Given the description of an element on the screen output the (x, y) to click on. 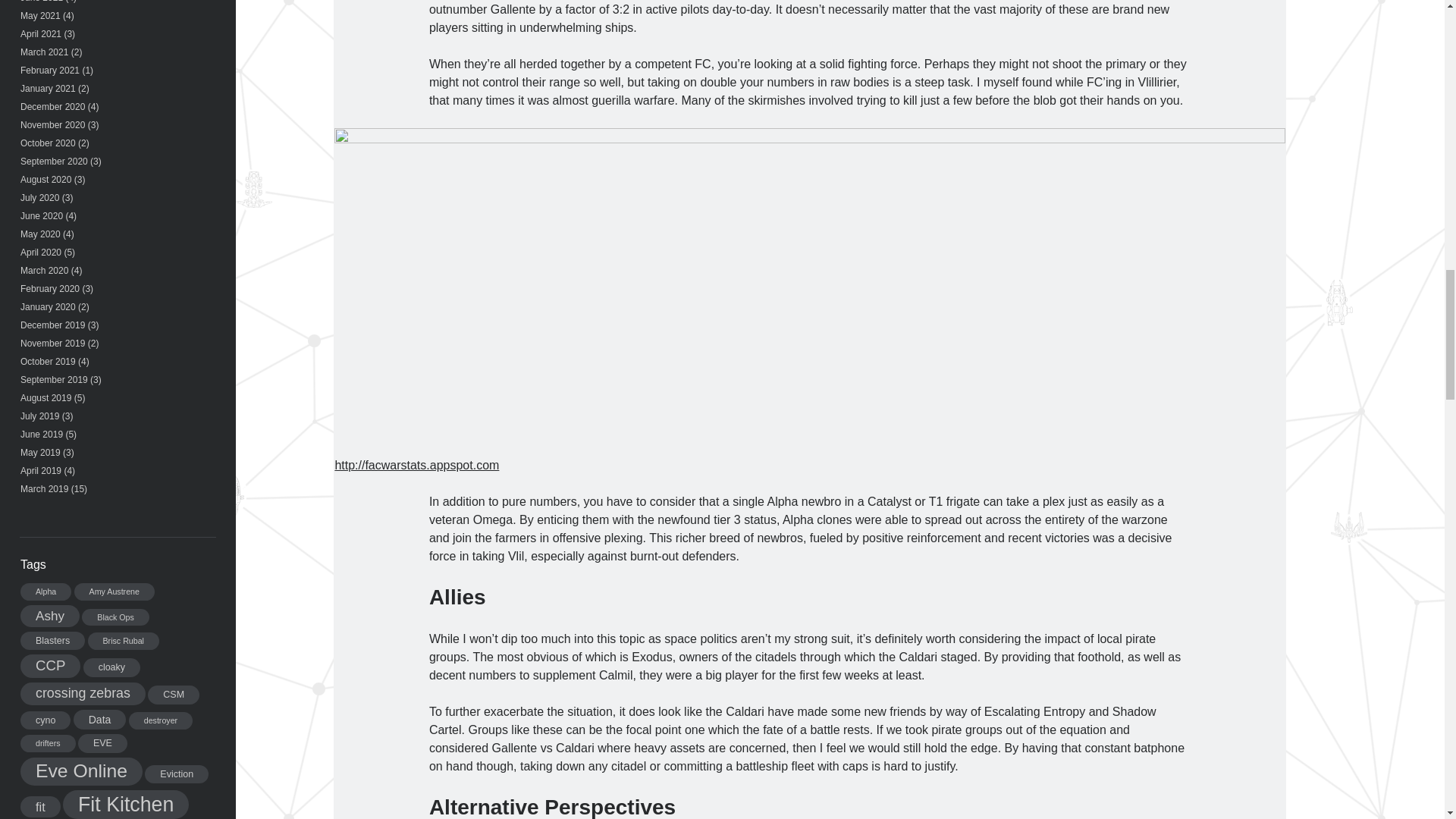
February 2021 (50, 70)
May 2021 (40, 15)
March 2021 (44, 51)
June 2021 (41, 1)
January 2021 (47, 88)
April 2021 (40, 33)
